Given the description of an element on the screen output the (x, y) to click on. 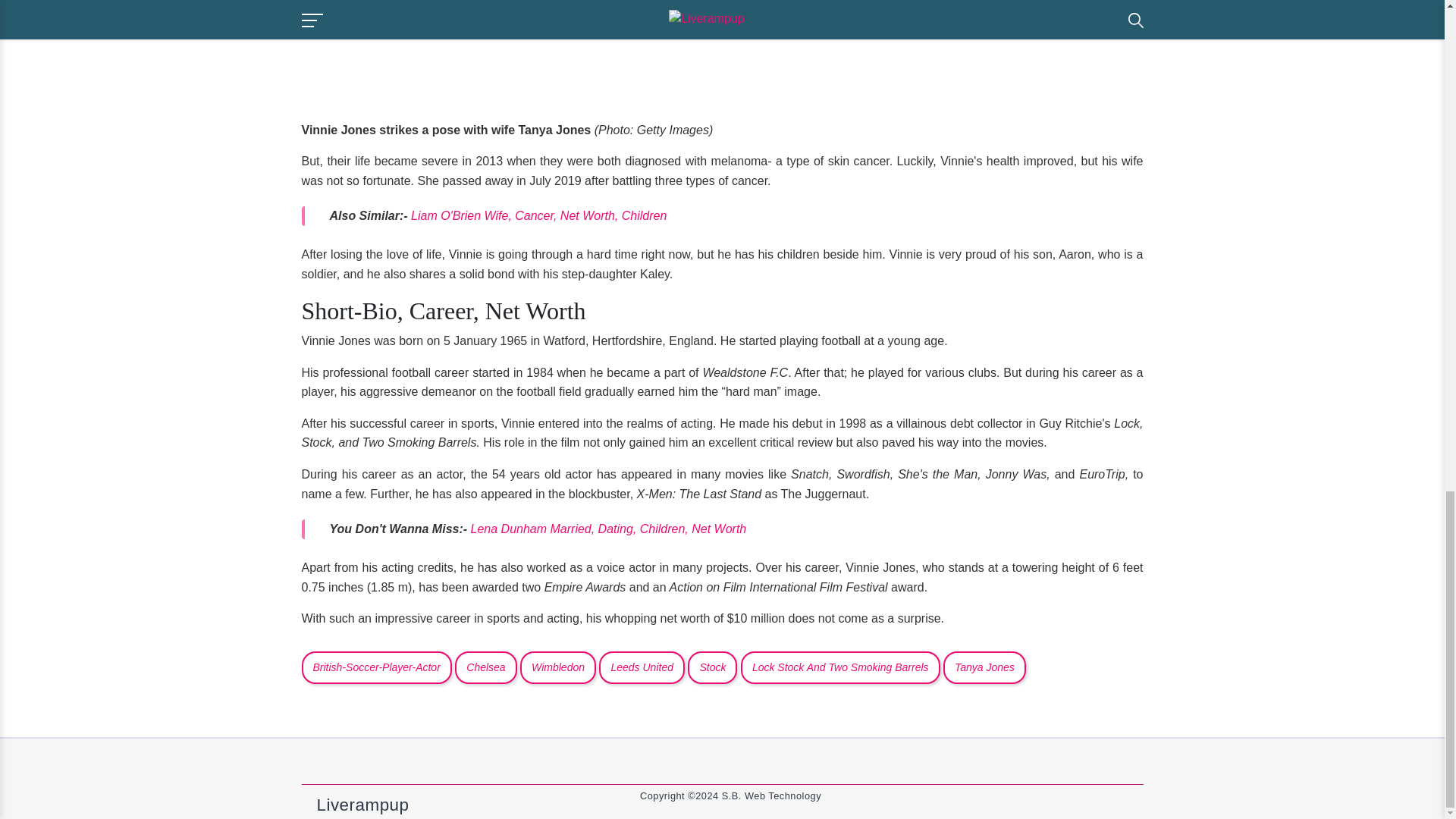
Liam O'Brien Wife, Cancer, Net Worth, Children (538, 215)
Lena Dunham Married, Dating, Children, Net Worth (608, 528)
